Given the description of an element on the screen output the (x, y) to click on. 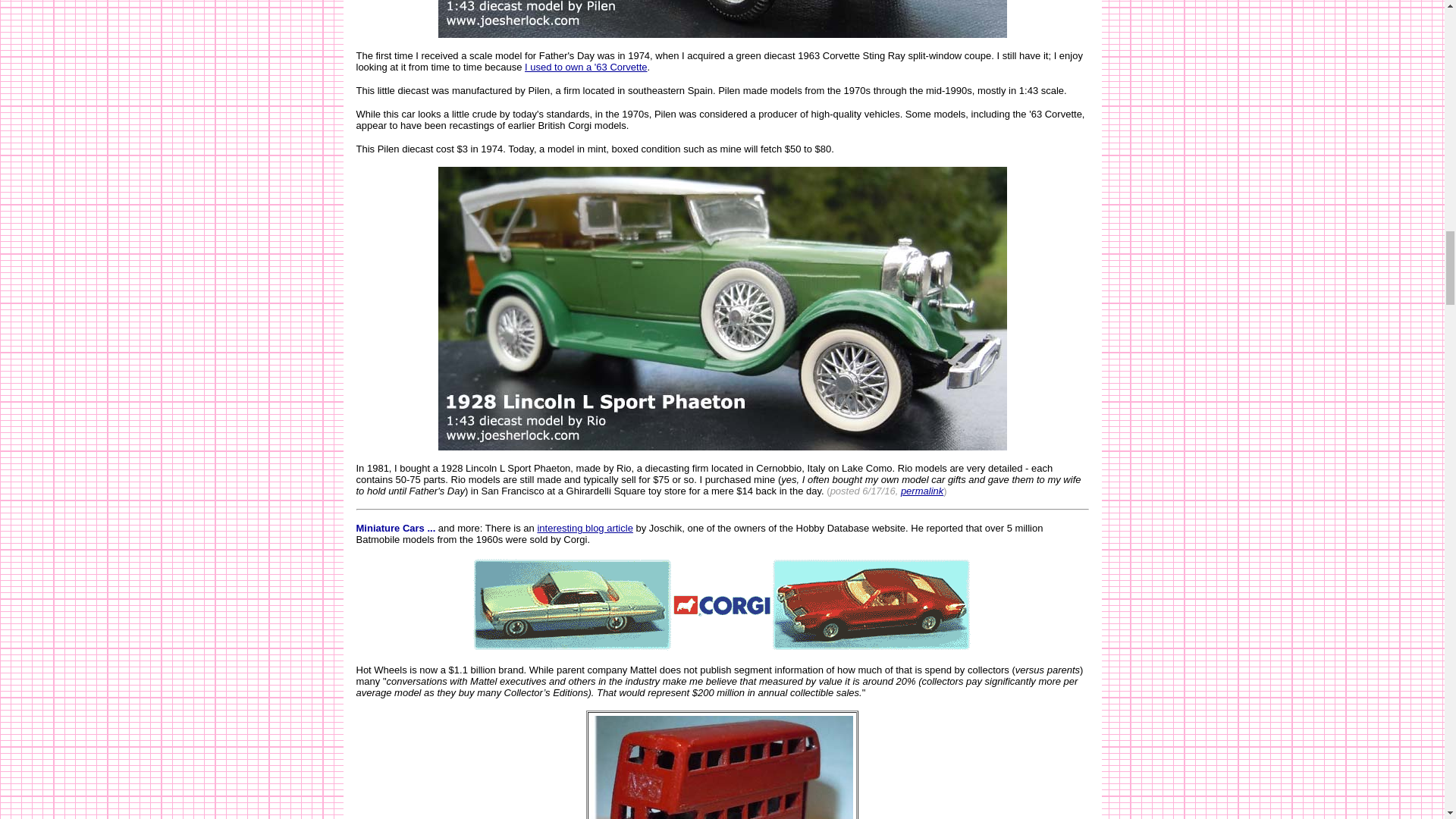
permalink (922, 490)
interesting blog article (584, 527)
I used to own a '63 Corvette (585, 66)
